Given the description of an element on the screen output the (x, y) to click on. 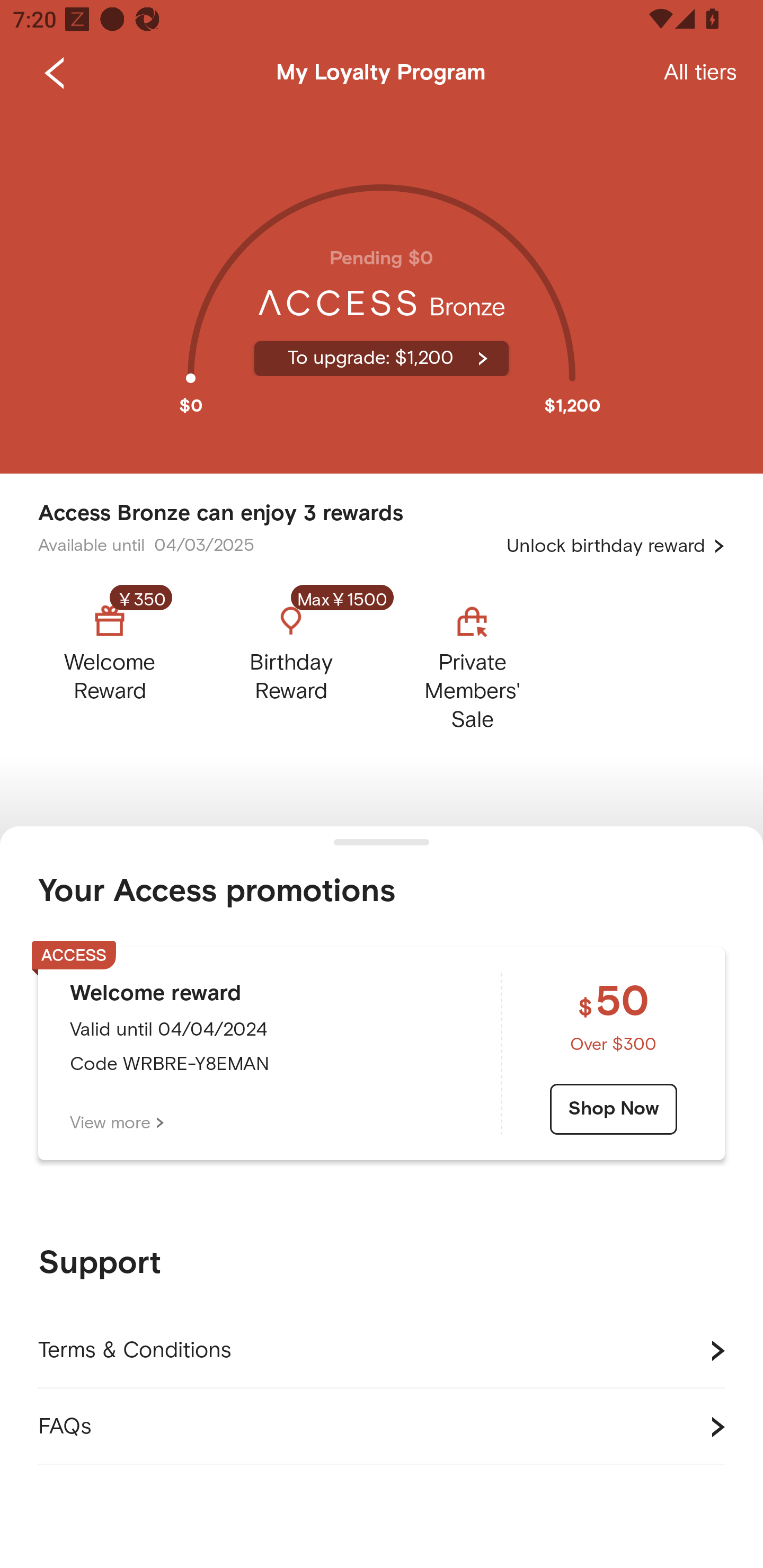
All tiers (700, 72)
Pending $0 To upgrade: $1,200 $0 $1,200 (381, 290)
Unlock birthday reward (615, 546)
￥350 Welcome Reward (125, 662)
Max￥1500 Birthday Reward (290, 662)
Private Members' Sale (471, 662)
Shop Now (613, 1109)
View more (117, 1123)
Terms & Conditions (381, 1350)
FAQs (381, 1426)
